Given the description of an element on the screen output the (x, y) to click on. 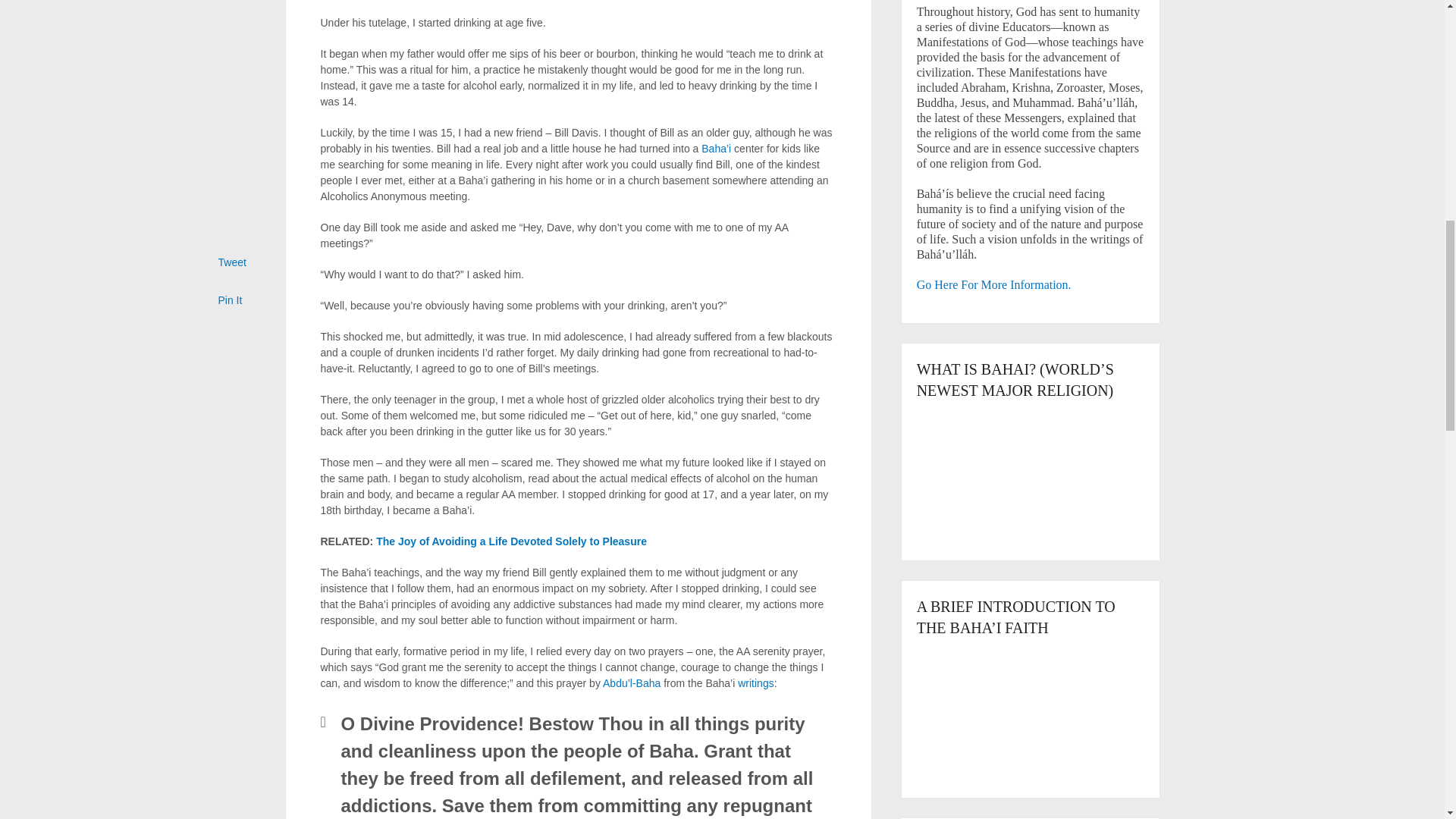
writings (755, 683)
YouTube video player (1030, 706)
The Joy of Avoiding a Life Devoted Solely to Pleasure (510, 541)
YouTube video player (1030, 469)
